Given the description of an element on the screen output the (x, y) to click on. 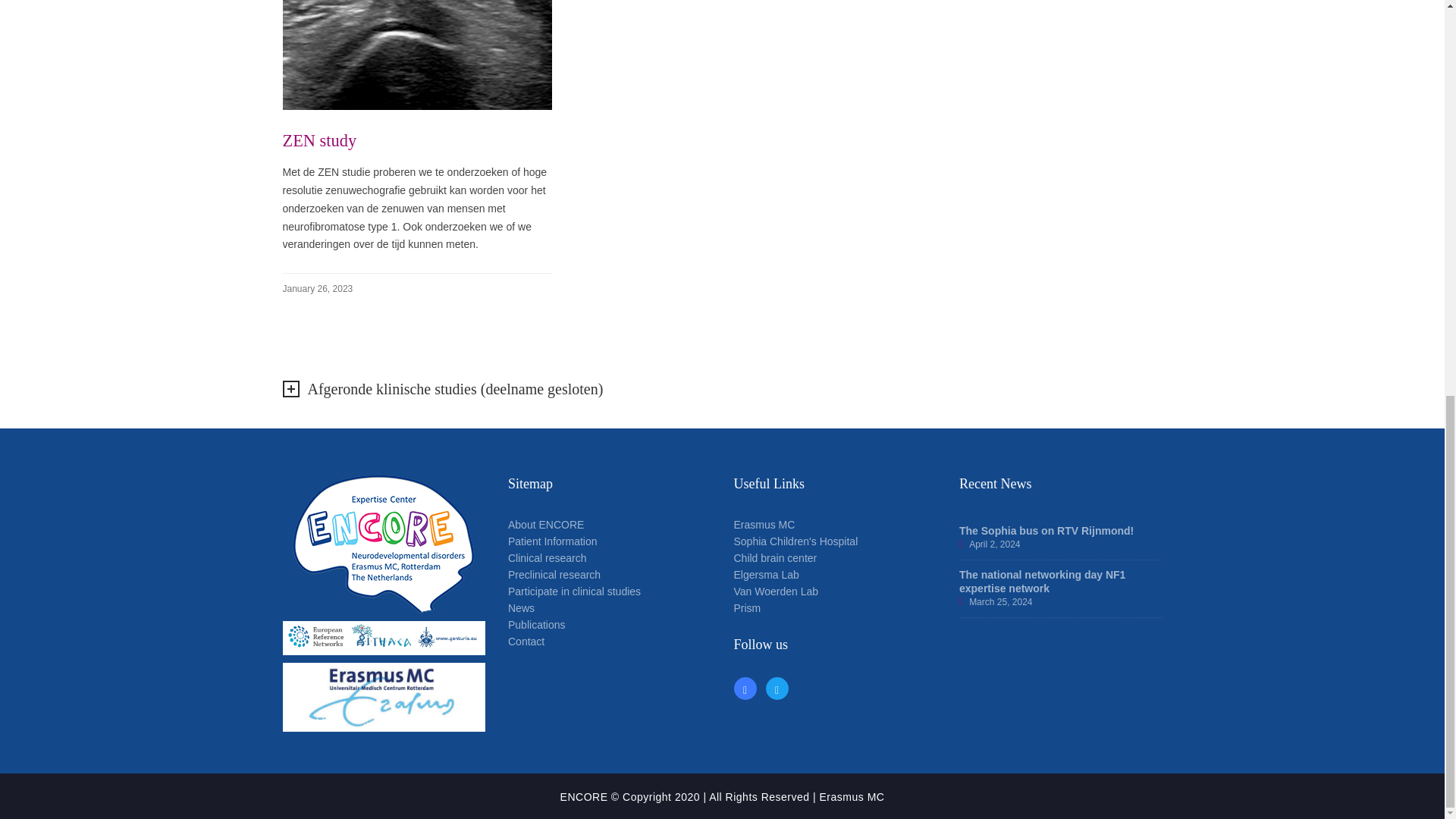
The national networking day NF1 expertise network (1042, 581)
Facebook (745, 690)
The Sophia bus on RTV Rijnmond! (1046, 530)
Twitter (777, 690)
